Given the description of an element on the screen output the (x, y) to click on. 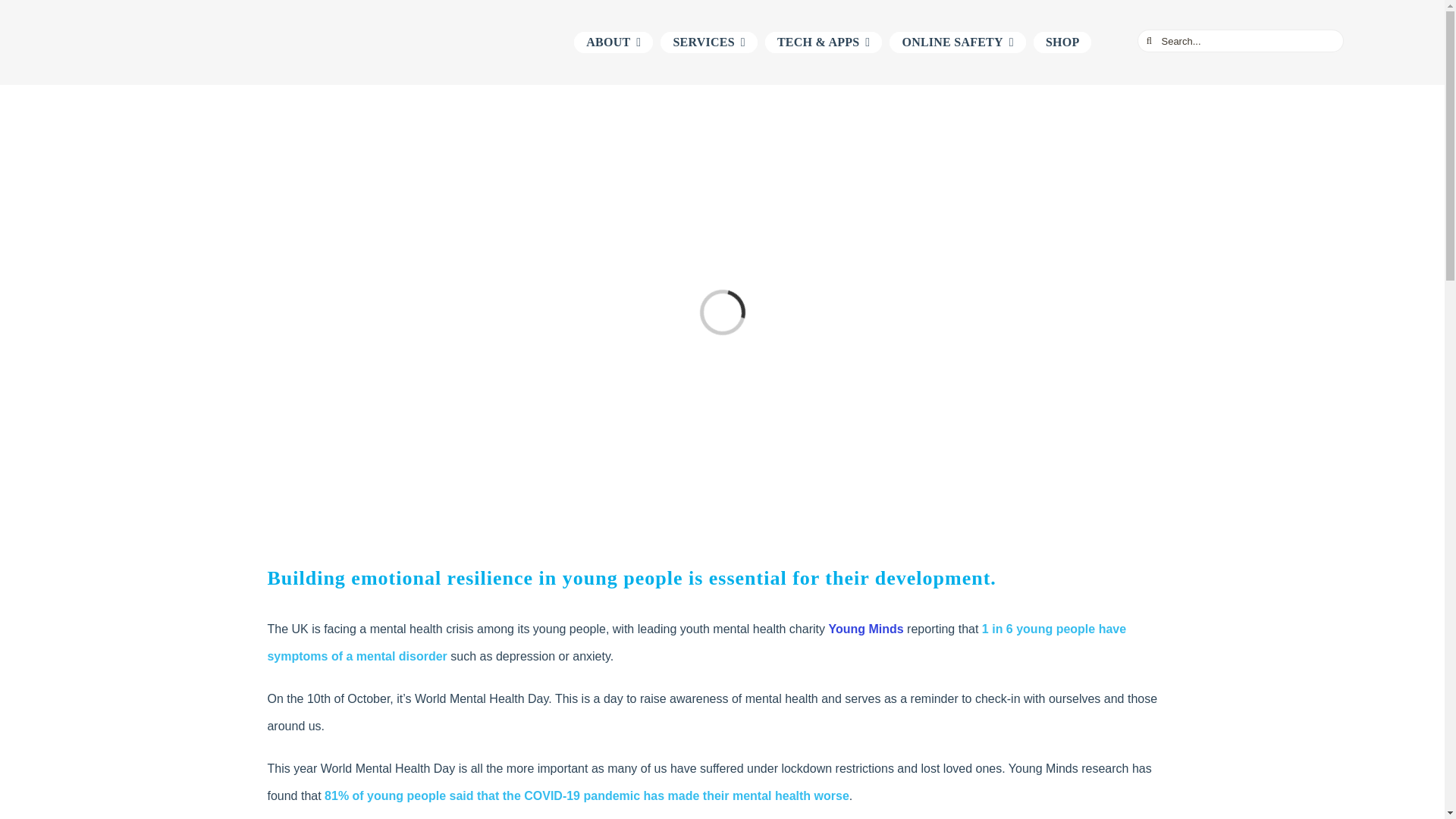
SERVICES (709, 41)
ONLINE SAFETY (957, 41)
SHOP (1062, 41)
Young Minds (865, 628)
ABOUT (612, 41)
